Given the description of an element on the screen output the (x, y) to click on. 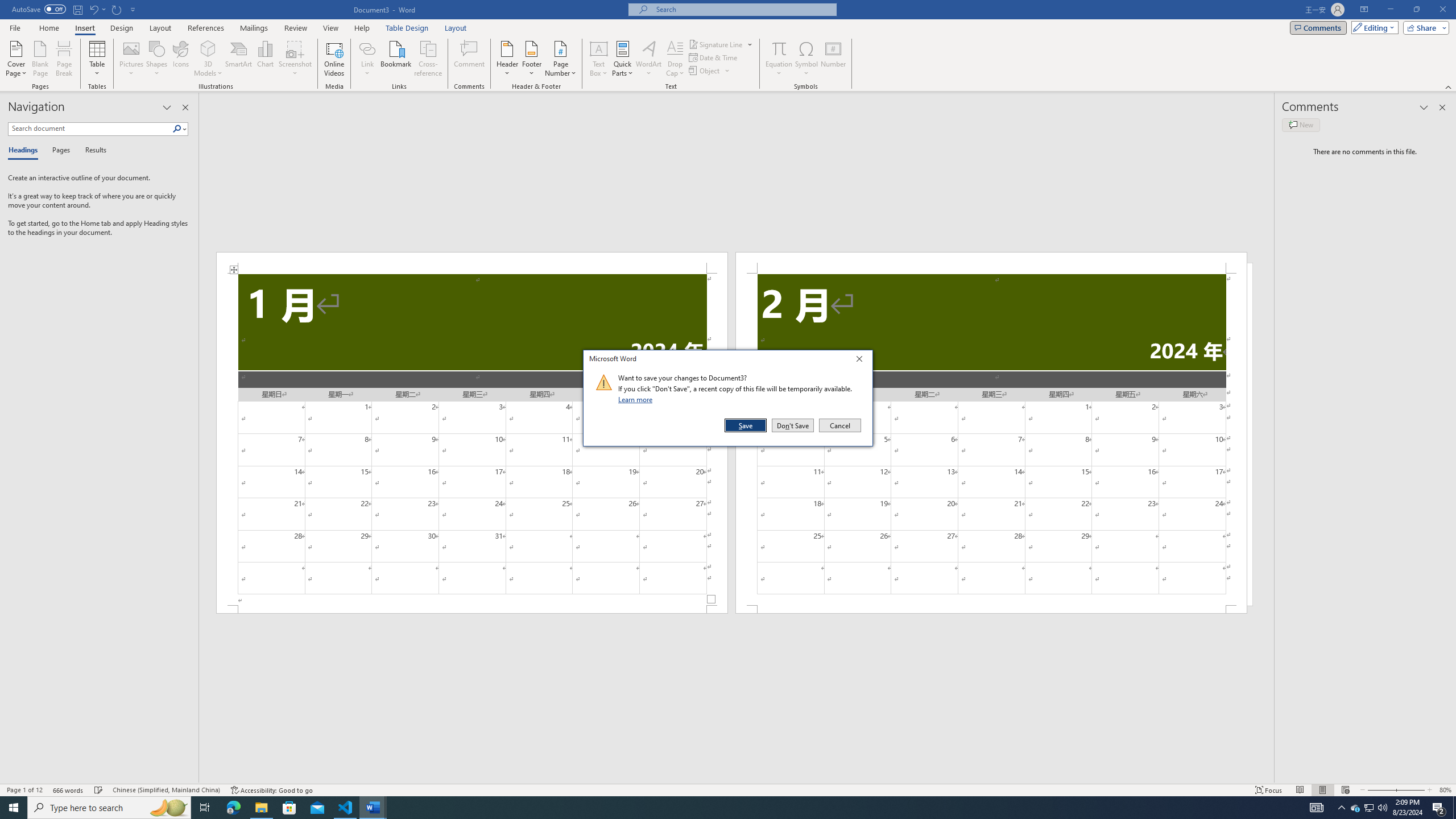
Undo Increase Indent (92, 9)
Bookmark... (396, 58)
More Options (778, 68)
Pages (59, 150)
Web Layout (1344, 790)
Quick Access Toolbar (74, 9)
Online Videos... (333, 58)
Search document (89, 128)
Page Break (63, 58)
Action Center, 2 new notifications (1439, 807)
Word Count 666 words (68, 790)
System (6, 6)
Header (507, 58)
